Given the description of an element on the screen output the (x, y) to click on. 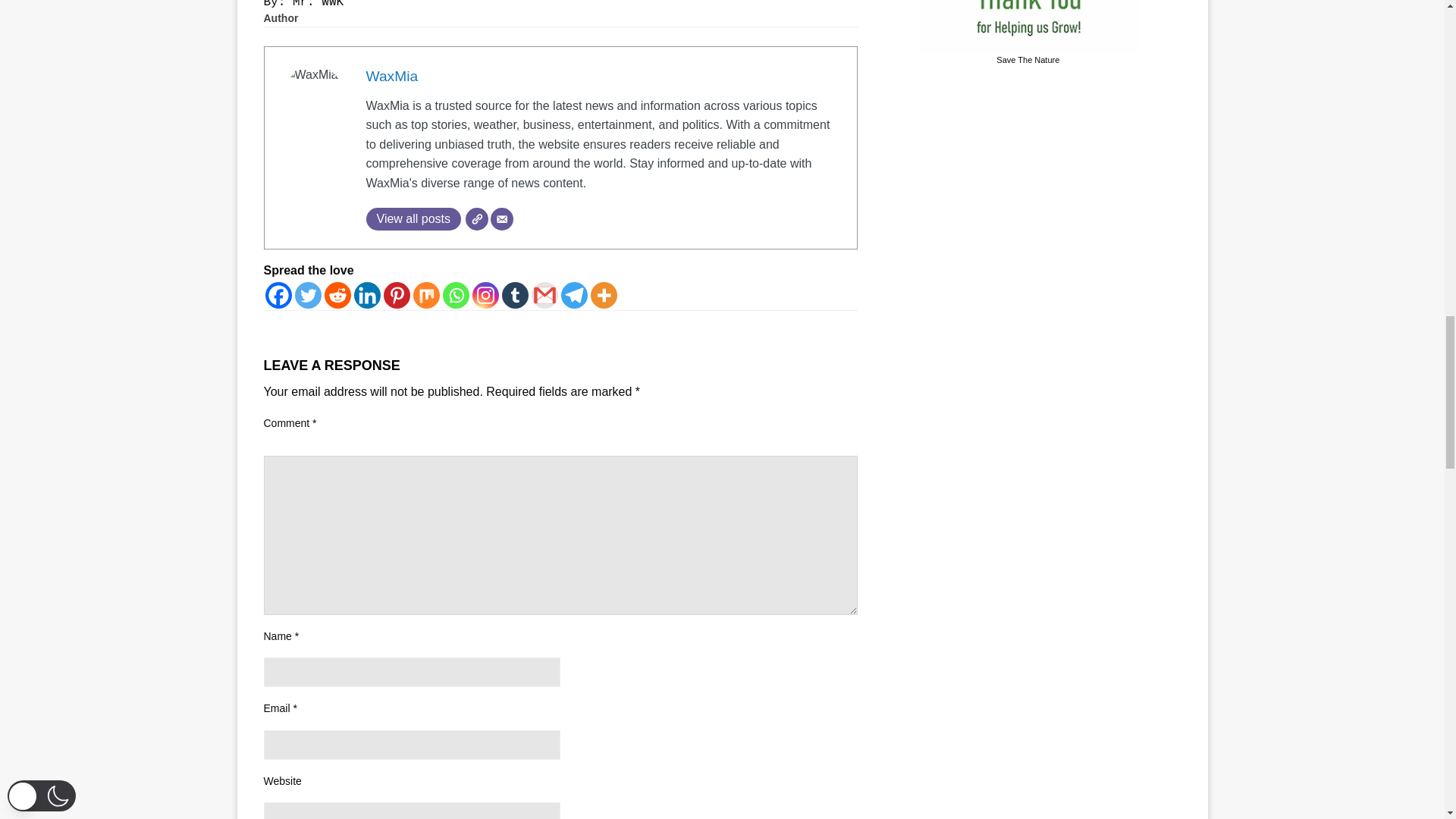
View all posts (413, 219)
Pinterest (397, 294)
Twitter (307, 294)
Facebook (278, 294)
WaxMia (391, 75)
Mix (425, 294)
WaxMia (391, 75)
Whatsapp (455, 294)
Reddit (337, 294)
View all posts (413, 219)
Linkedin (366, 294)
